Given the description of an element on the screen output the (x, y) to click on. 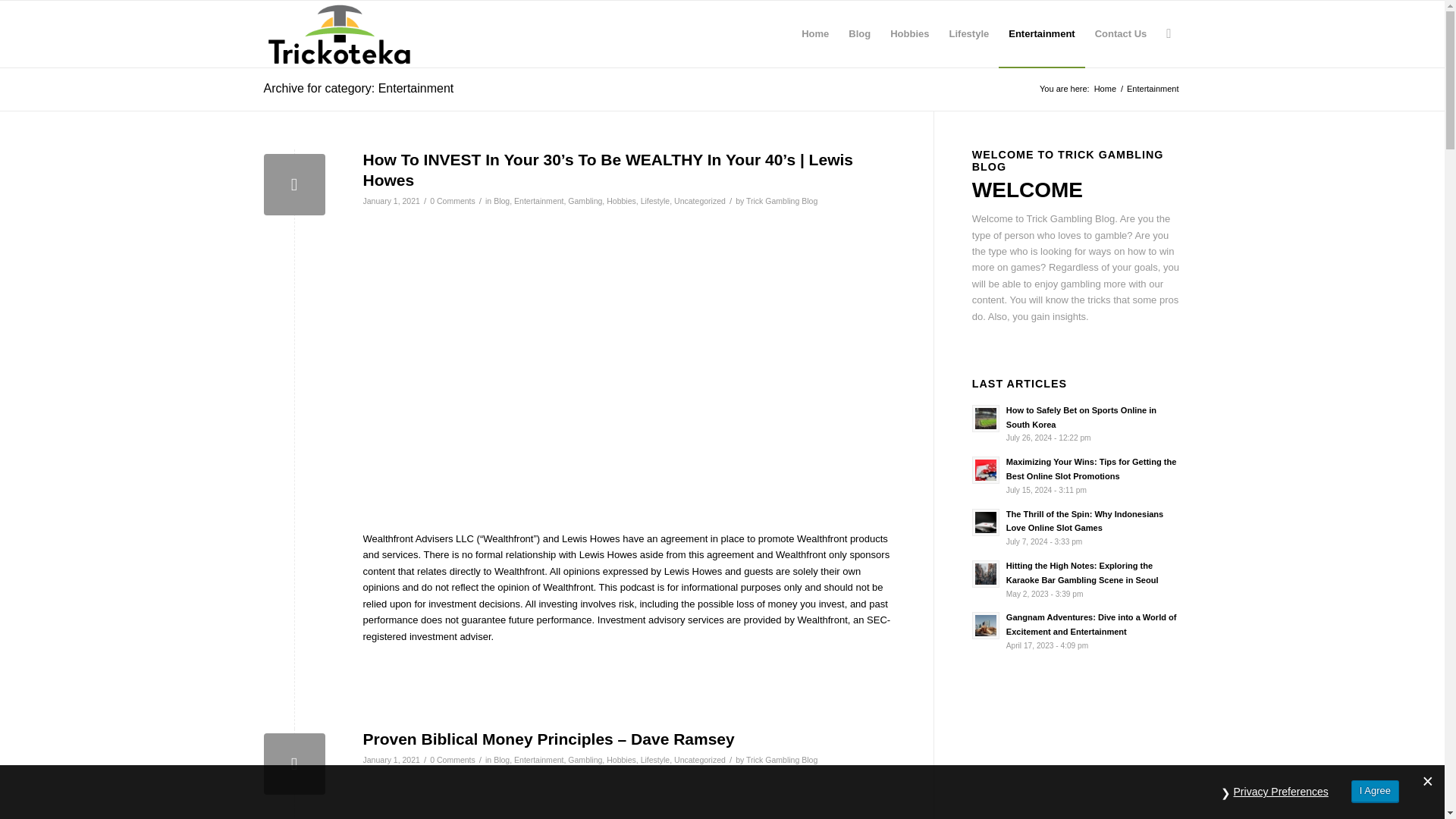
Gambling (584, 759)
Permanent Link: Archive for category: Entertainment (358, 88)
Posts by Trick Gambling Blog (780, 759)
Archive for category: Entertainment (358, 88)
Gambling (584, 200)
Posts by Trick Gambling Blog (780, 200)
Trick Gambling Blog (780, 200)
Entertainment (1041, 33)
Hobbies (621, 759)
0 Comments (452, 200)
